Given the description of an element on the screen output the (x, y) to click on. 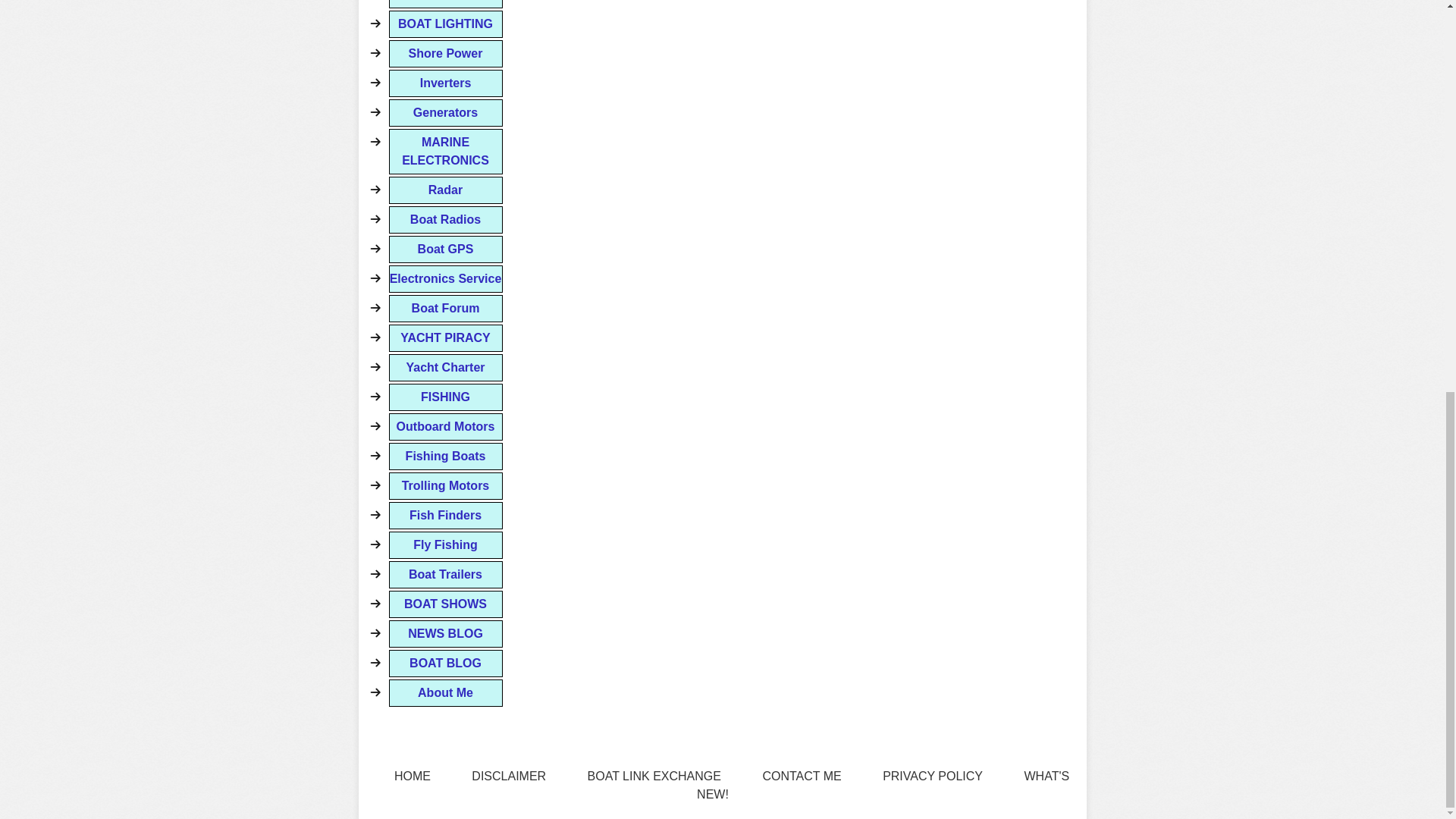
Outboard Motors (445, 426)
MARINE ELECTRONICS (445, 151)
Inverters (445, 83)
BOAT LIGHTING (445, 23)
Shore Power (445, 53)
LIGHTNING (445, 4)
Boat GPS (445, 248)
Yacht Charter (445, 367)
Electronics Service (445, 278)
Boat Radios (445, 219)
